Given the description of an element on the screen output the (x, y) to click on. 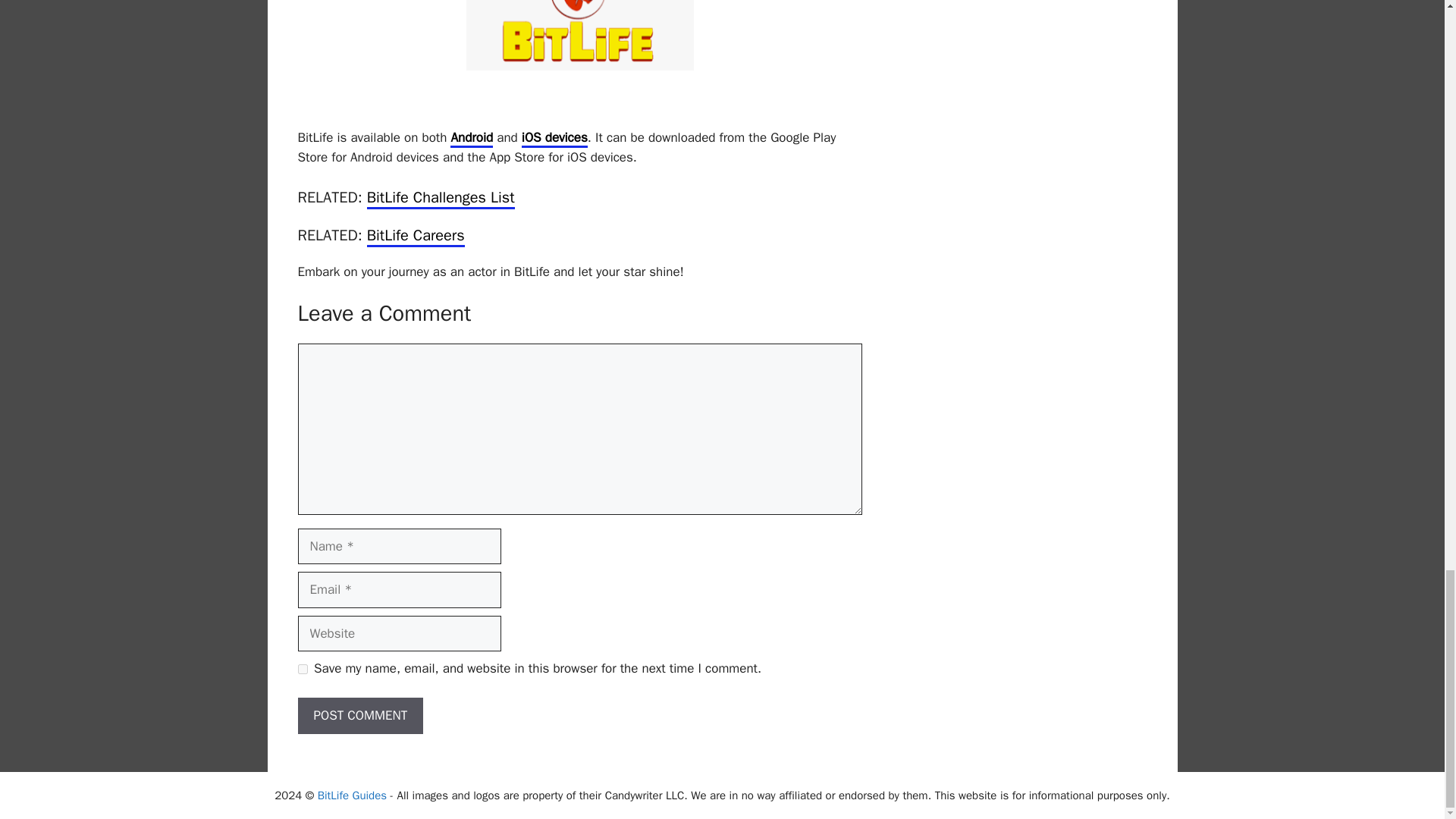
Post Comment (360, 715)
Post Comment (360, 715)
iOS devices (554, 138)
BitLife Challenges List (440, 198)
BitLife Guides (352, 795)
BitLife Careers (415, 236)
yes (302, 669)
Android (471, 138)
